Given the description of an element on the screen output the (x, y) to click on. 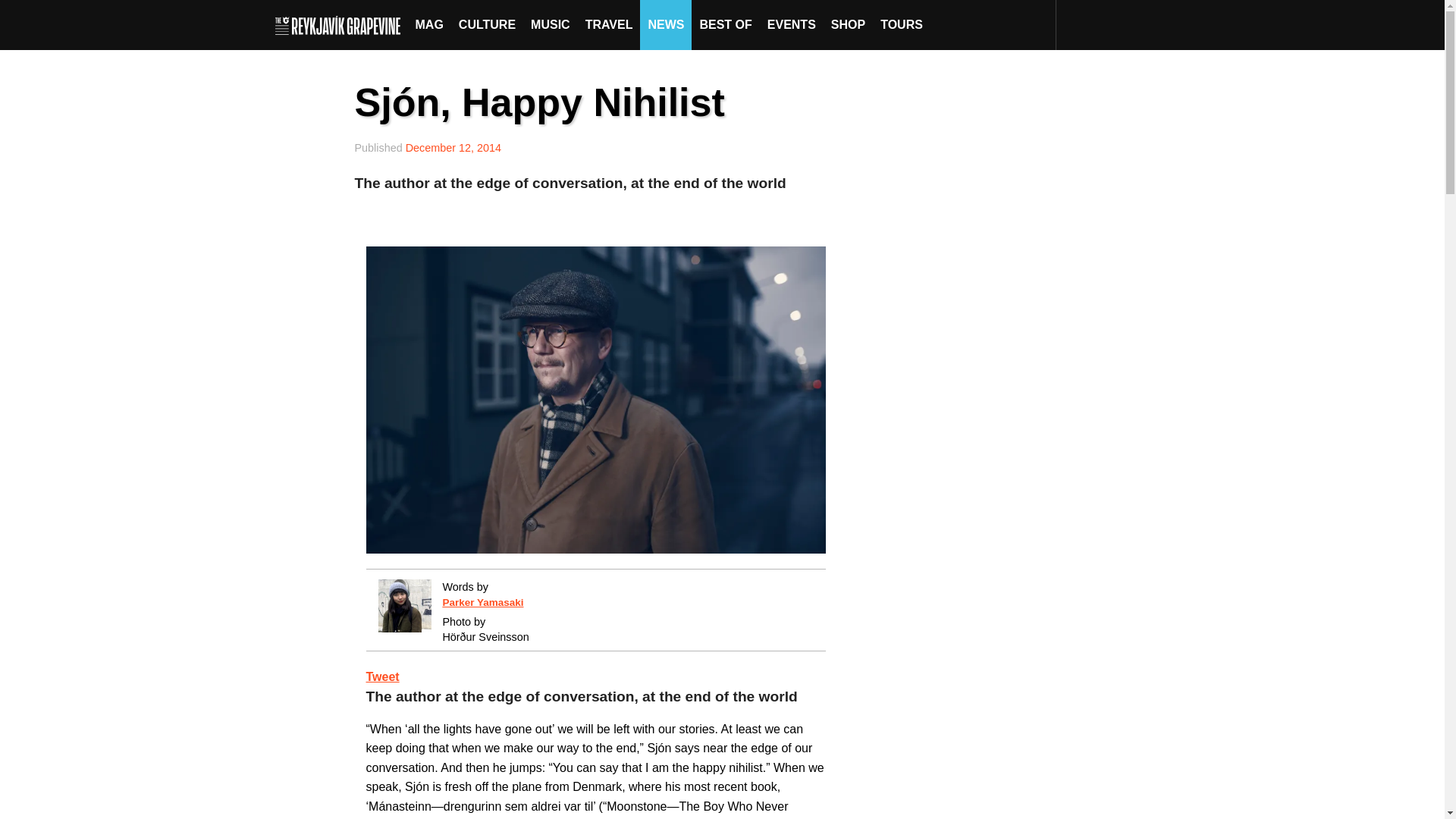
SHOP (848, 24)
TRAVEL (609, 24)
NEWS (665, 24)
CULTURE (486, 24)
BEST OF (724, 24)
Parker Yamasaki (482, 602)
TOURS (901, 24)
Posts by Parker Yamasaki (482, 602)
MUSIC (550, 24)
Tweet (381, 676)
